Given the description of an element on the screen output the (x, y) to click on. 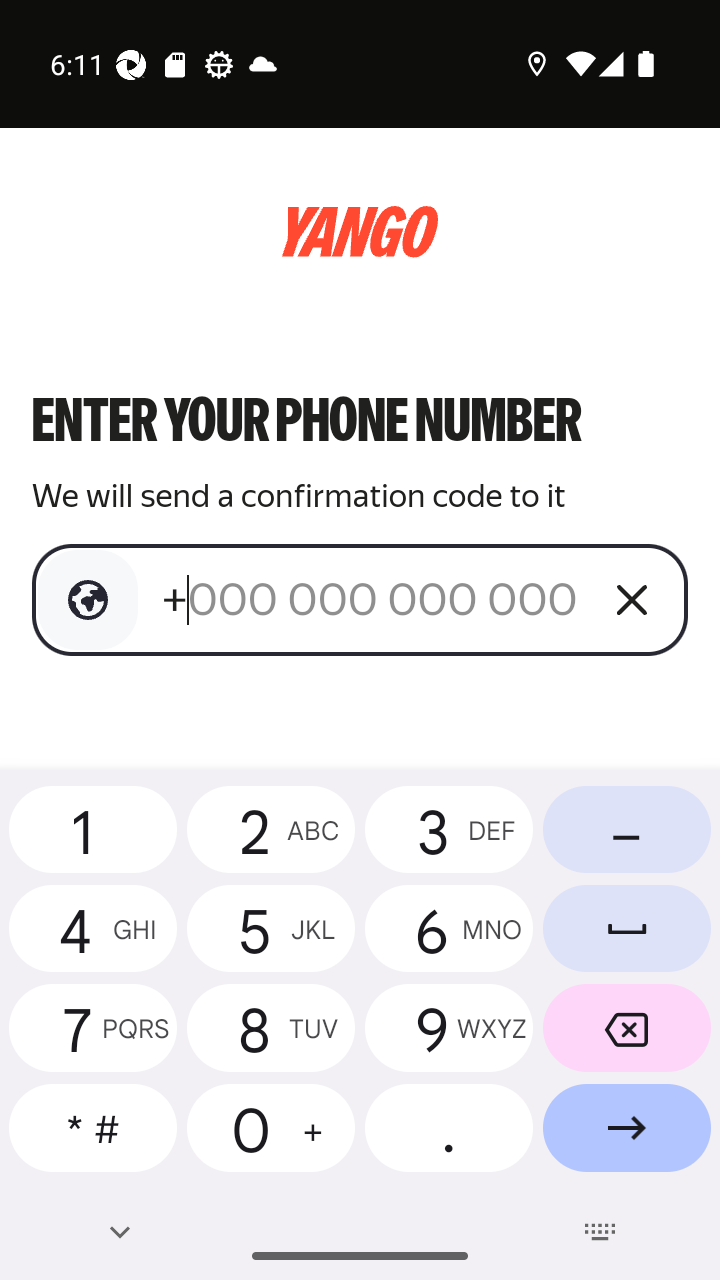
logo (359, 231)
  (88, 600)
+ (372, 599)
